Given the description of an element on the screen output the (x, y) to click on. 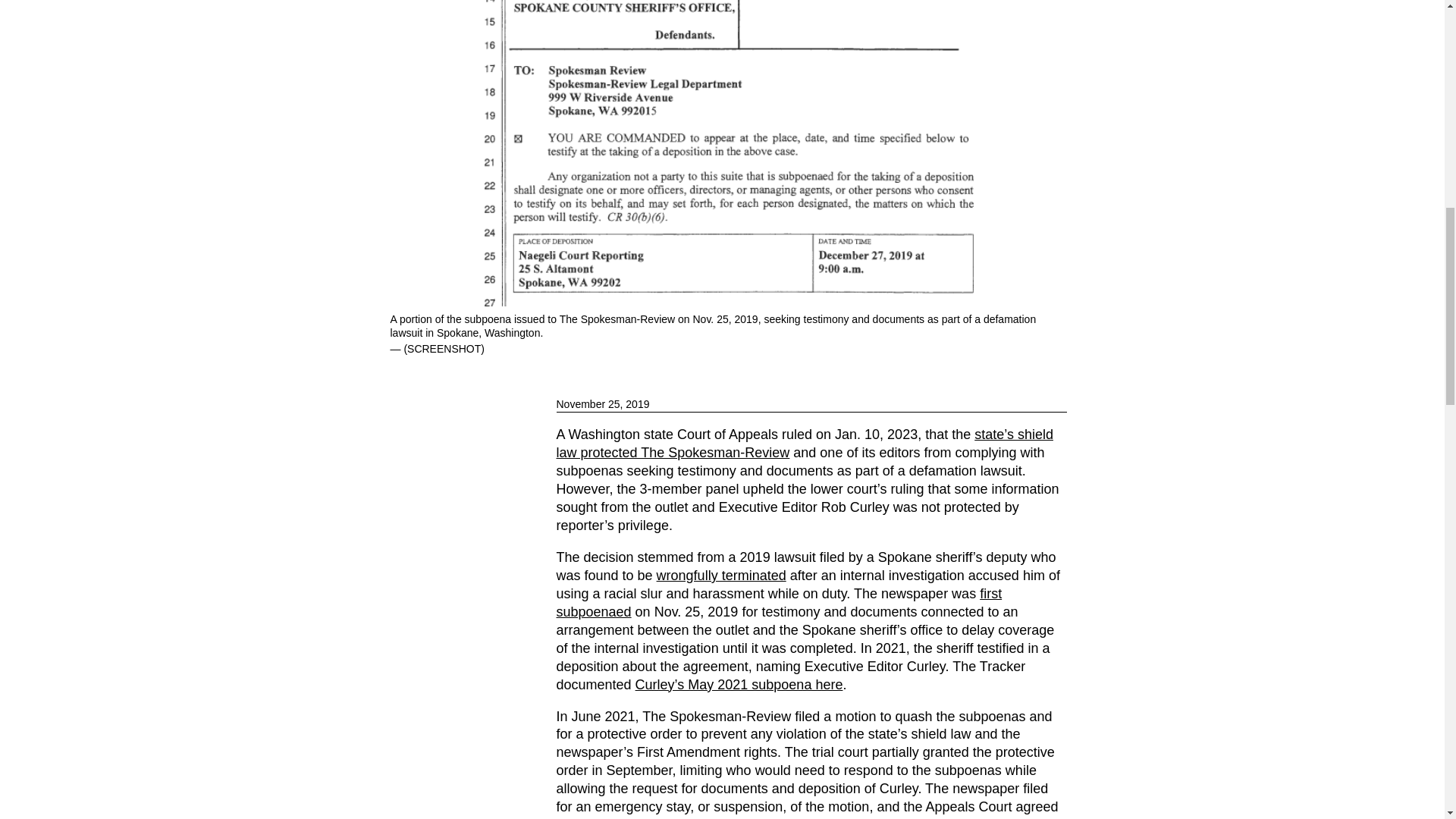
November 25, 2019 (811, 404)
wrongfully terminated (721, 575)
first subpoenaed (779, 602)
